Given the description of an element on the screen output the (x, y) to click on. 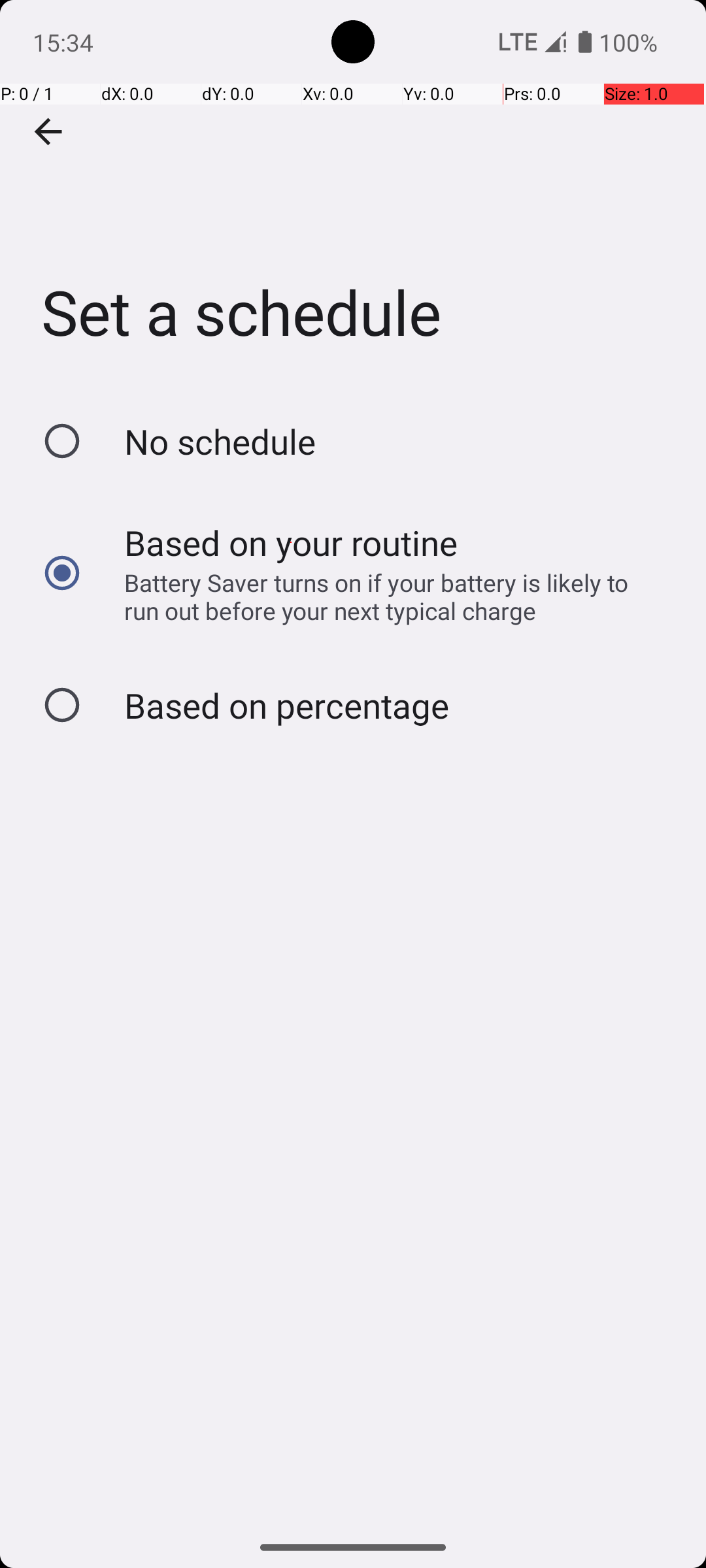
Set a schedule Element type: android.widget.FrameLayout (353, 195)
No schedule Element type: android.widget.TextView (219, 441)
Based on your routine Element type: android.widget.TextView (291, 542)
Battery Saver turns on if your battery is likely to run out before your next typical charge Element type: android.widget.TextView (387, 596)
Based on percentage Element type: android.widget.TextView (286, 705)
